Given the description of an element on the screen output the (x, y) to click on. 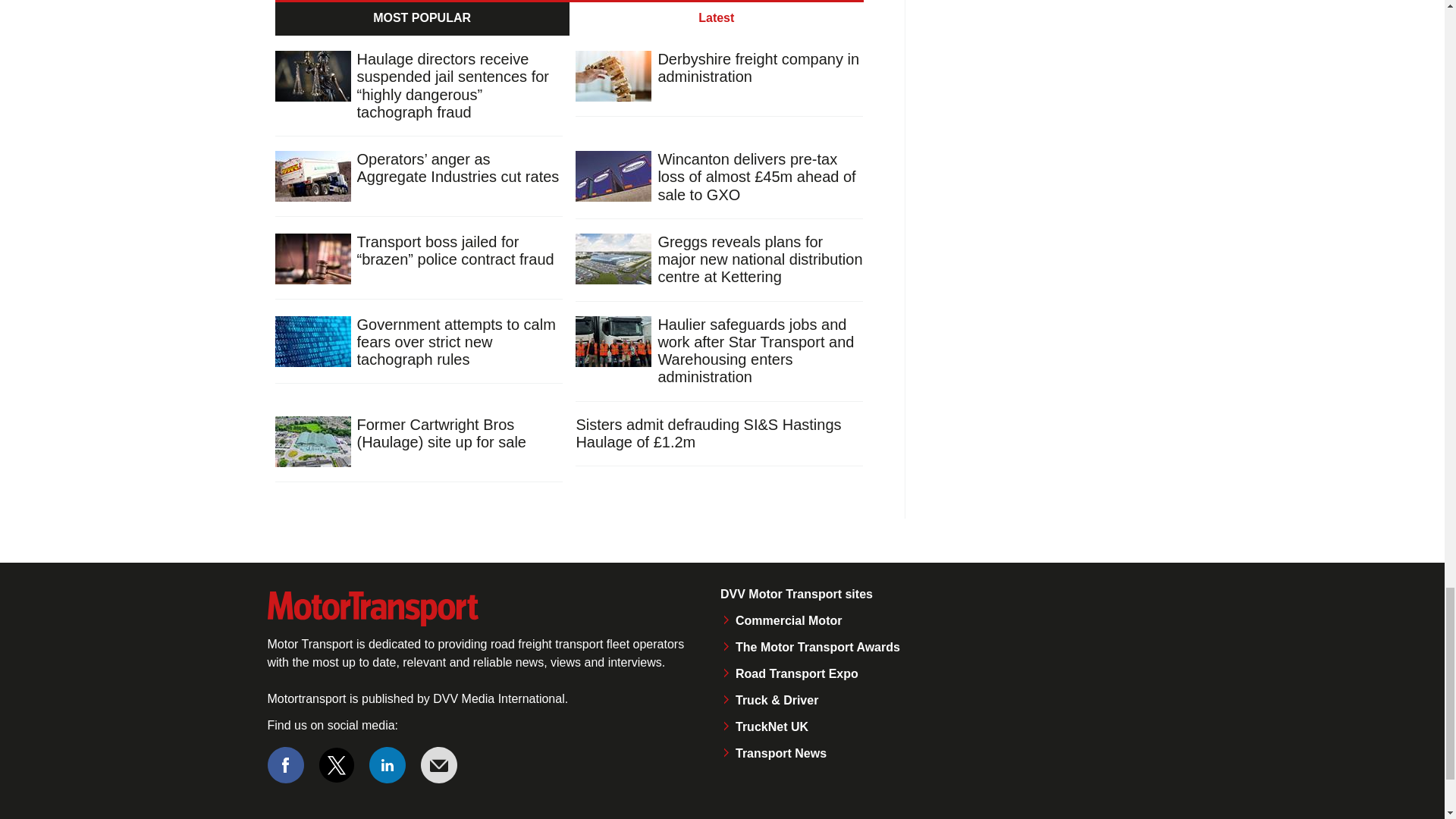
Connect with us on Linked in (387, 764)
Email us (438, 764)
Connect with us on Facebook (284, 764)
Connect with us on Twitter (336, 764)
